Given the description of an element on the screen output the (x, y) to click on. 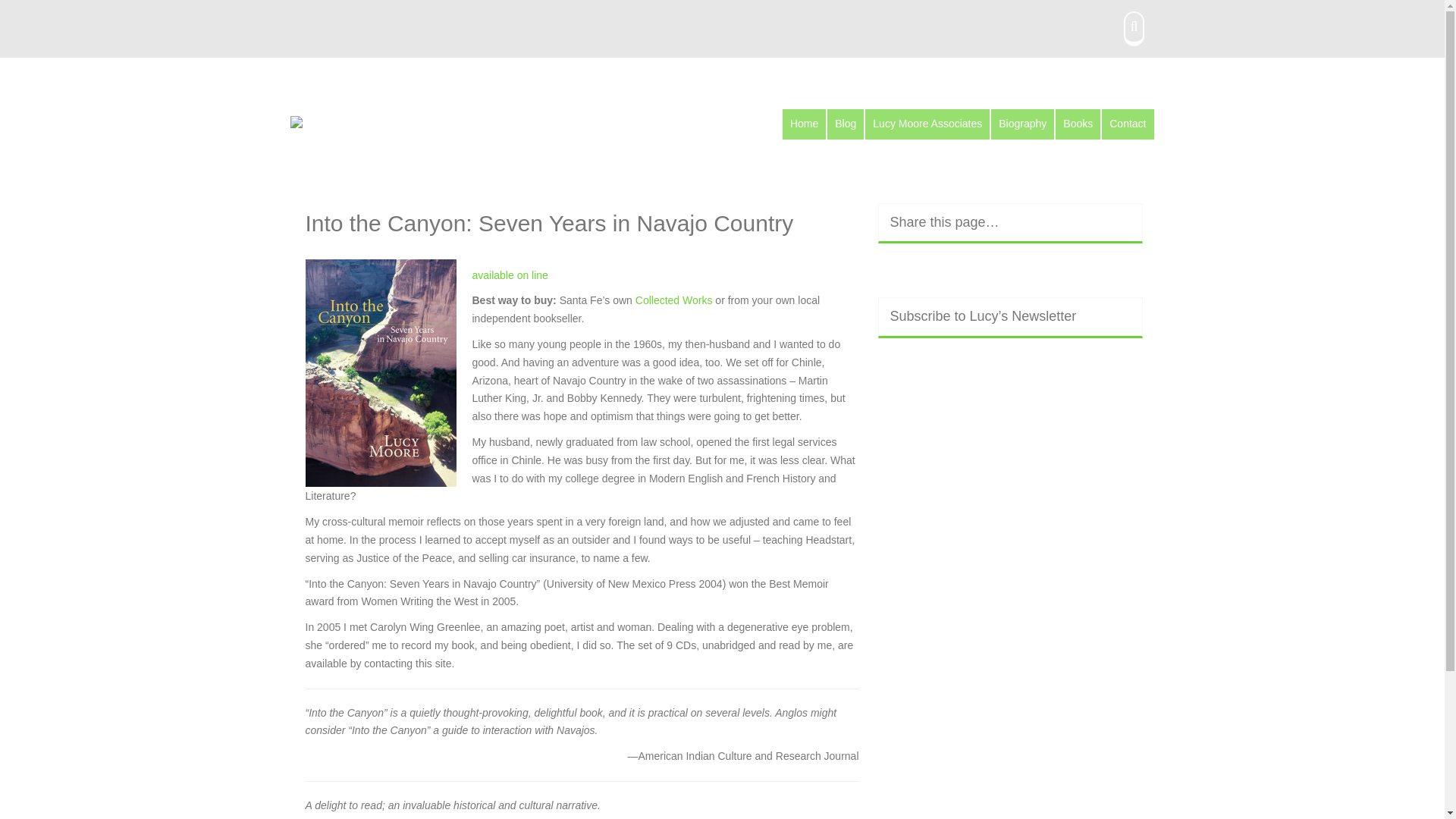
Buy this book from Amazon (509, 275)
Collected Works (675, 300)
Biography (1022, 123)
Lucy Moore Associates (927, 123)
Home (804, 123)
Contact (1127, 123)
Blog (845, 123)
available on line (509, 275)
Books (1077, 123)
